Given the description of an element on the screen output the (x, y) to click on. 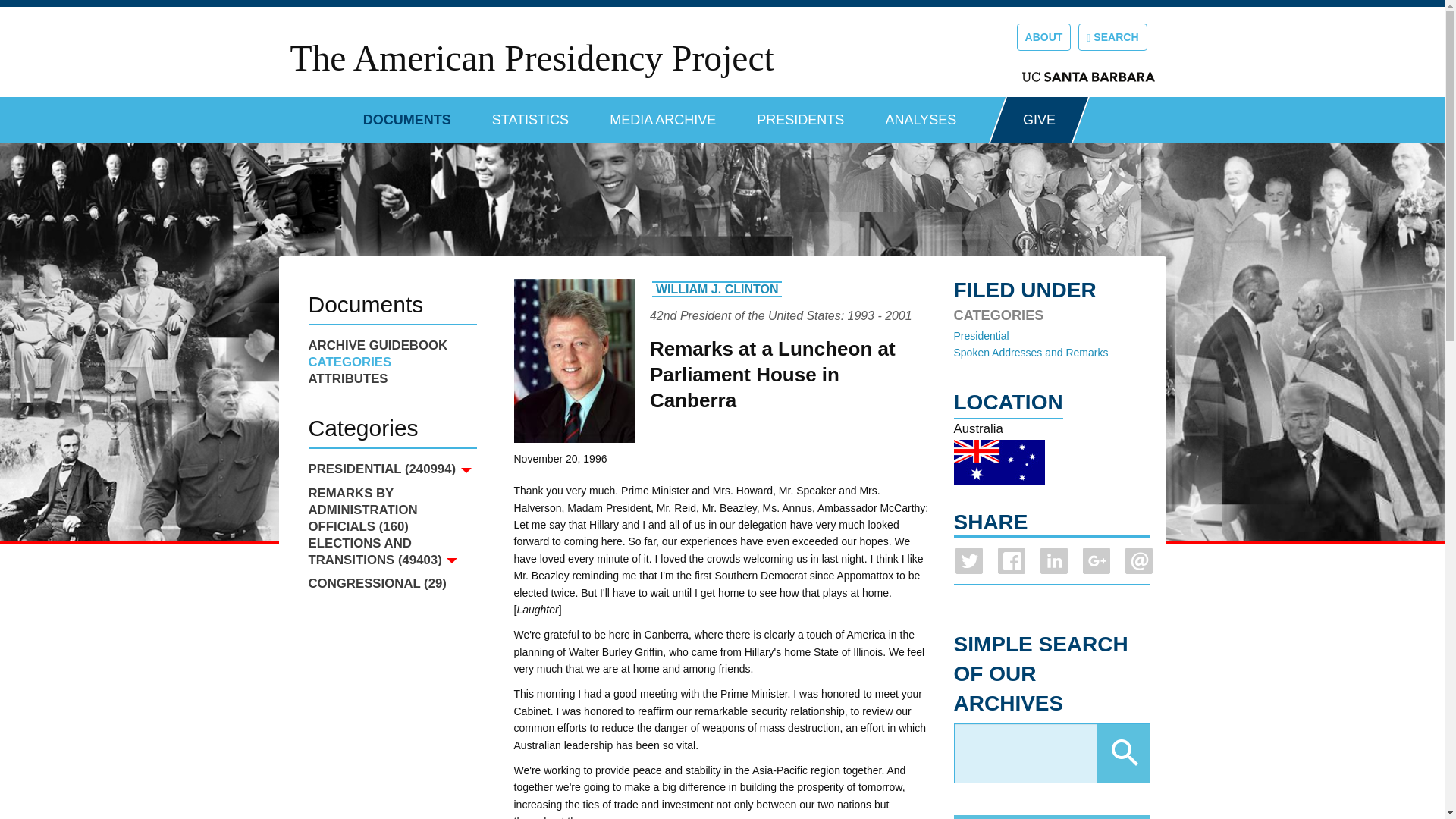
ABOUT (1043, 36)
ARCHIVE GUIDEBOOK (391, 345)
GIVE (1038, 119)
CATEGORIES (391, 362)
The American Presidency Project (531, 57)
STATISTICS (530, 113)
MEDIA ARCHIVE (663, 113)
ATTRIBUTES (391, 379)
PRESIDENTS (800, 113)
DOCUMENTS (406, 113)
 SEARCH (1112, 36)
ANALYSES (920, 113)
